Given the description of an element on the screen output the (x, y) to click on. 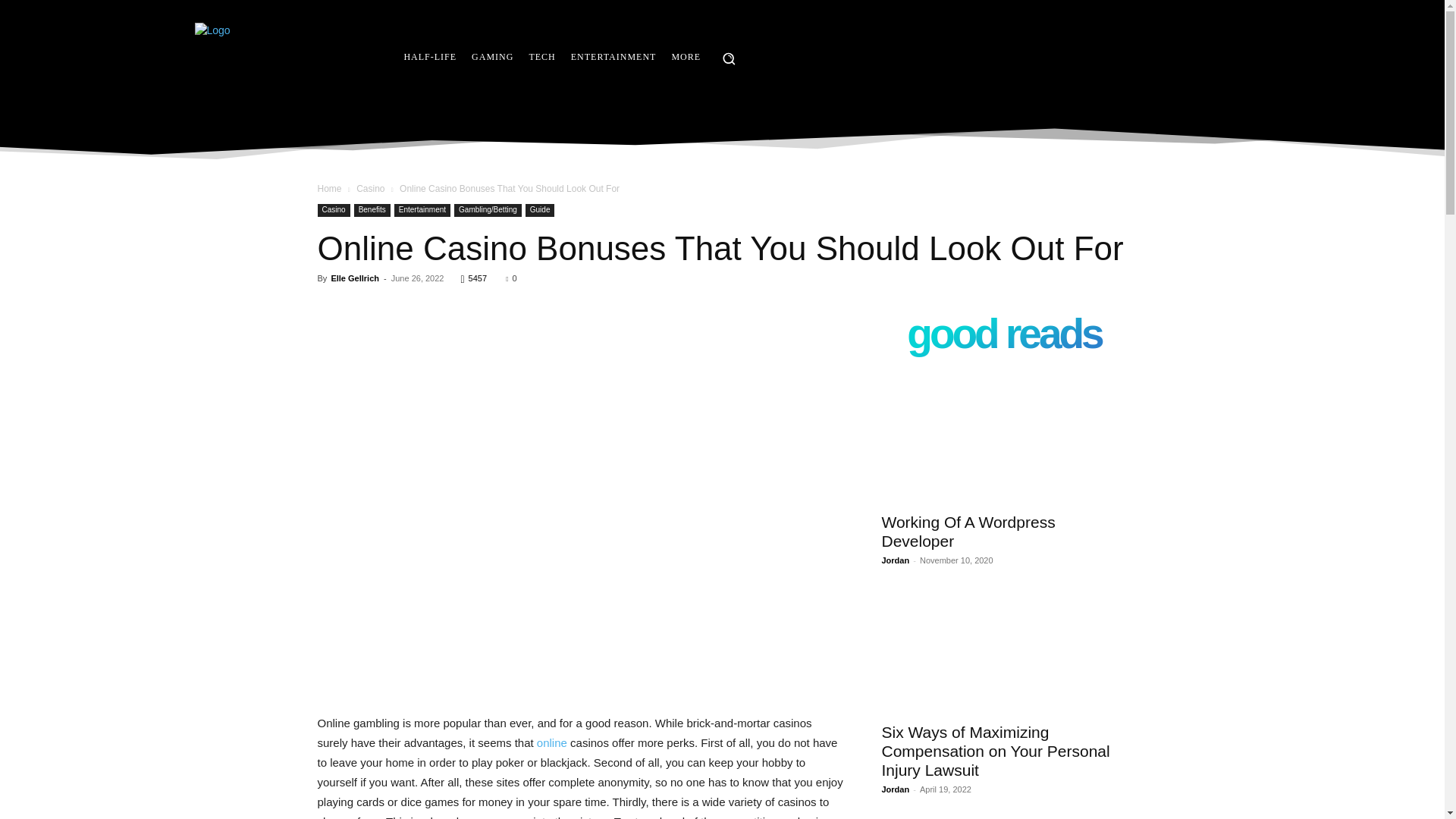
Casino (333, 210)
Casino (370, 188)
TECH (541, 56)
ENTERTAINMENT (613, 56)
View all posts in Casino (370, 188)
MORE (685, 56)
Entertainment (421, 210)
GAMING (492, 56)
0 (510, 277)
Benefits (371, 210)
